Given the description of an element on the screen output the (x, y) to click on. 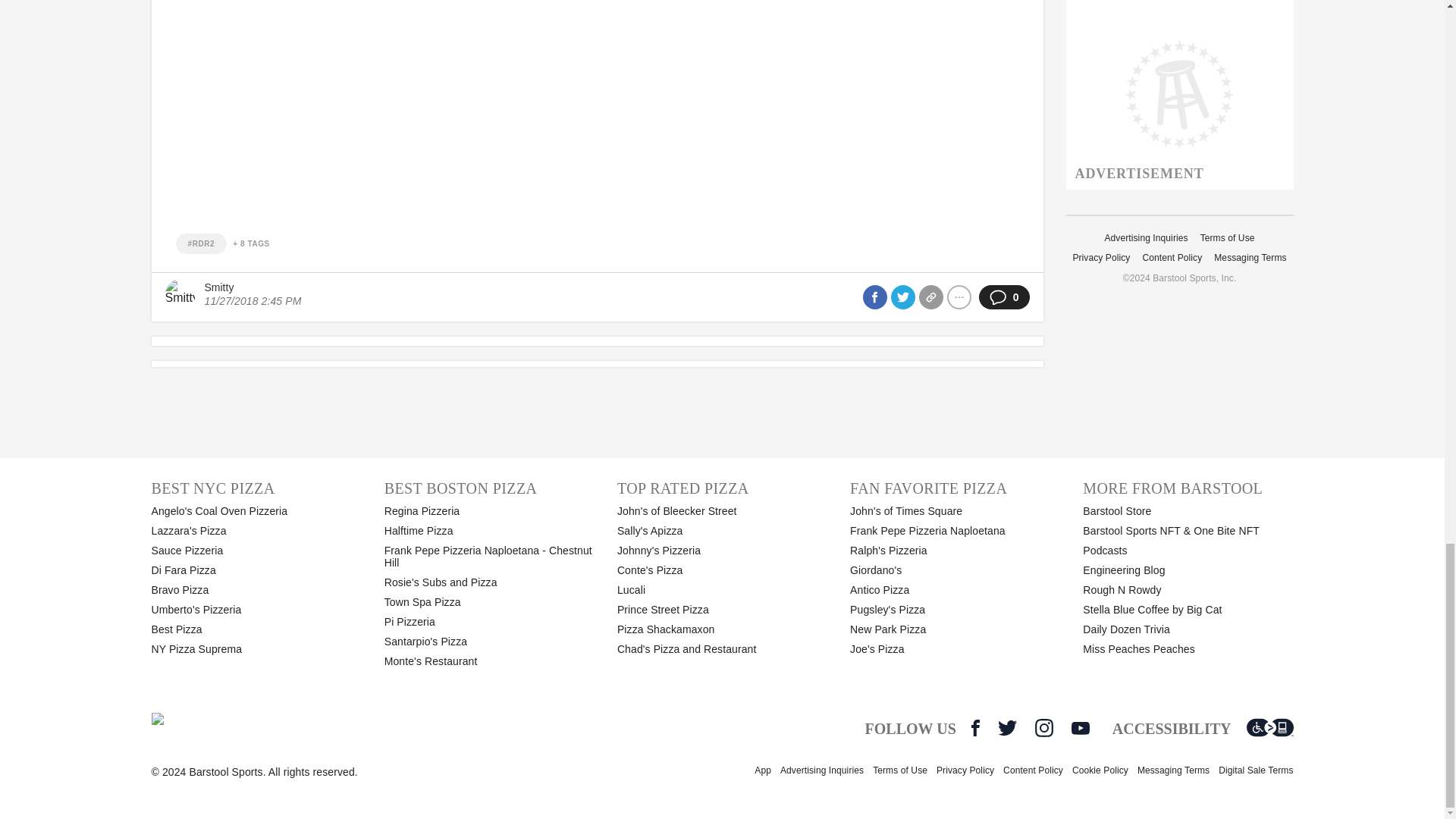
Instagram Icon (1043, 728)
Level Access website accessibility icon (1270, 727)
YouTube Icon (1080, 728)
Twitter Icon (1006, 728)
